Given the description of an element on the screen output the (x, y) to click on. 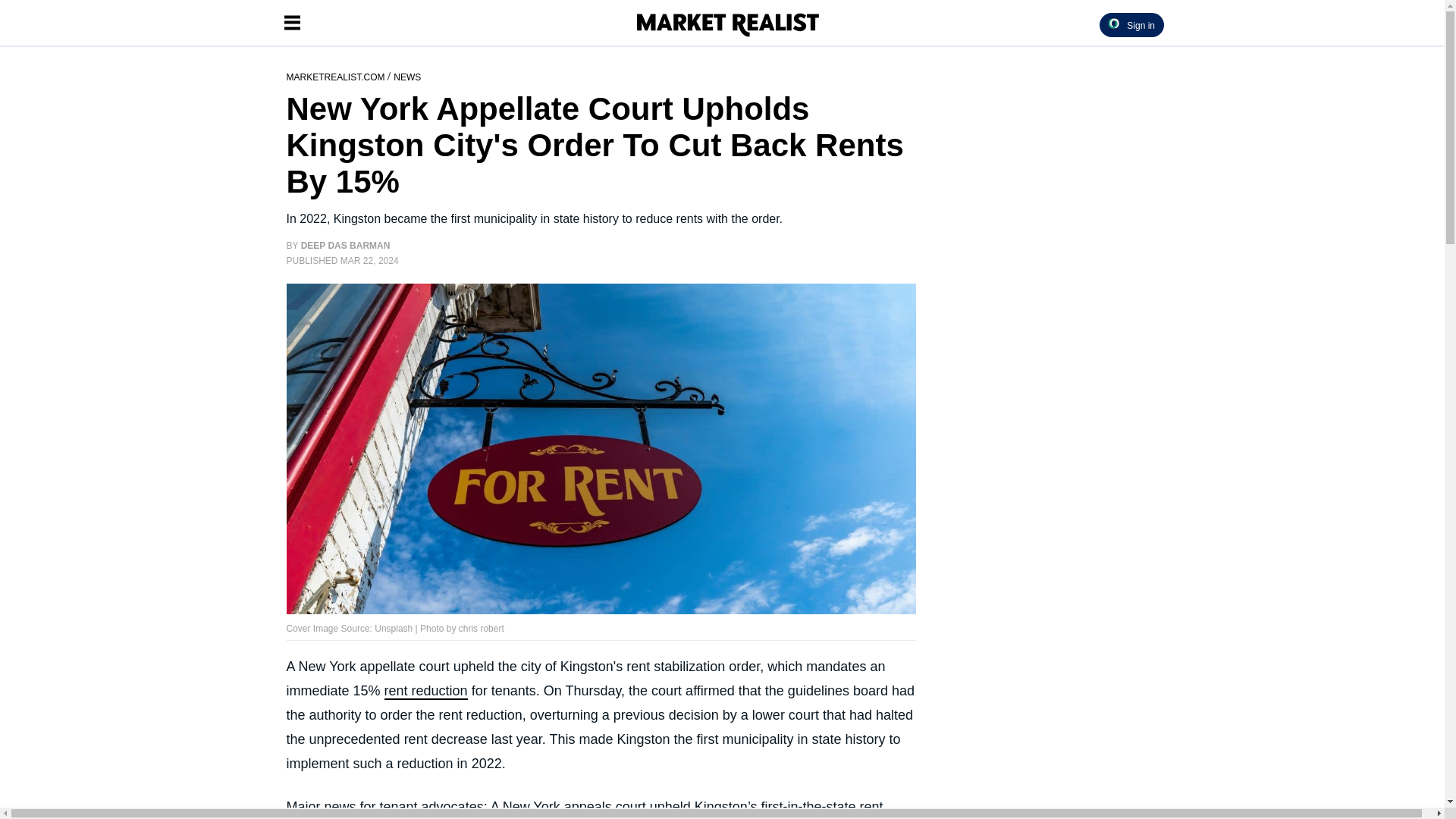
DEEP DAS BARMAN (345, 245)
rent reduction (425, 691)
Sign in (1131, 24)
NEWS (406, 75)
OpenPass Logo (1113, 23)
MARKETREALIST.COM (336, 75)
